Given the description of an element on the screen output the (x, y) to click on. 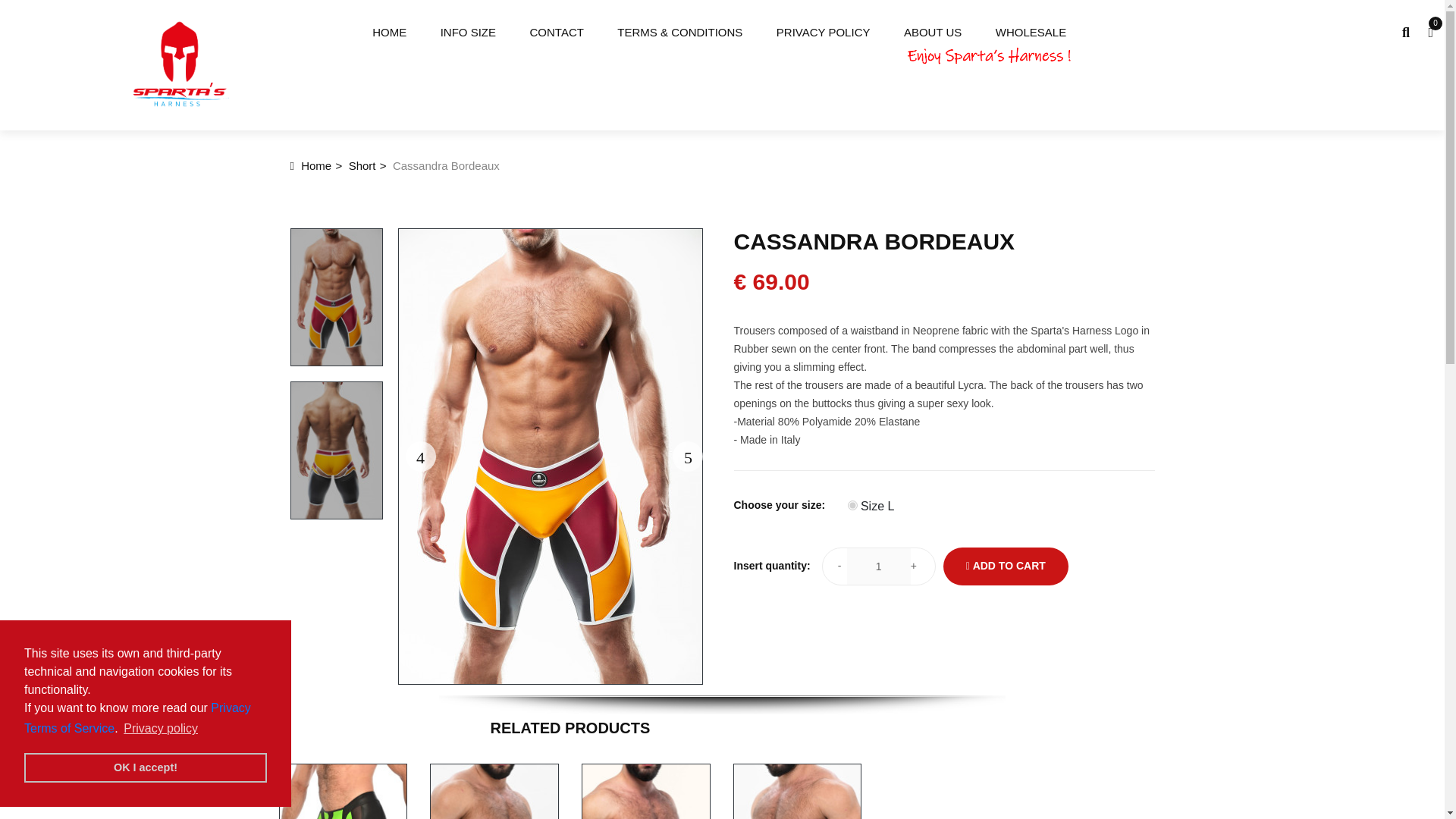
Privacy policy (160, 728)
INFO SIZE (468, 32)
HOME (389, 32)
ABOUT US (932, 32)
ADD TO CART (1005, 566)
OK I accept! (145, 767)
3 (852, 505)
1 (879, 565)
WHOLESALE (1030, 32)
CONTACT (556, 32)
Short (362, 166)
Home (310, 166)
Privacy Terms of Service (137, 717)
PRIVACY POLICY (823, 32)
